Given the description of an element on the screen output the (x, y) to click on. 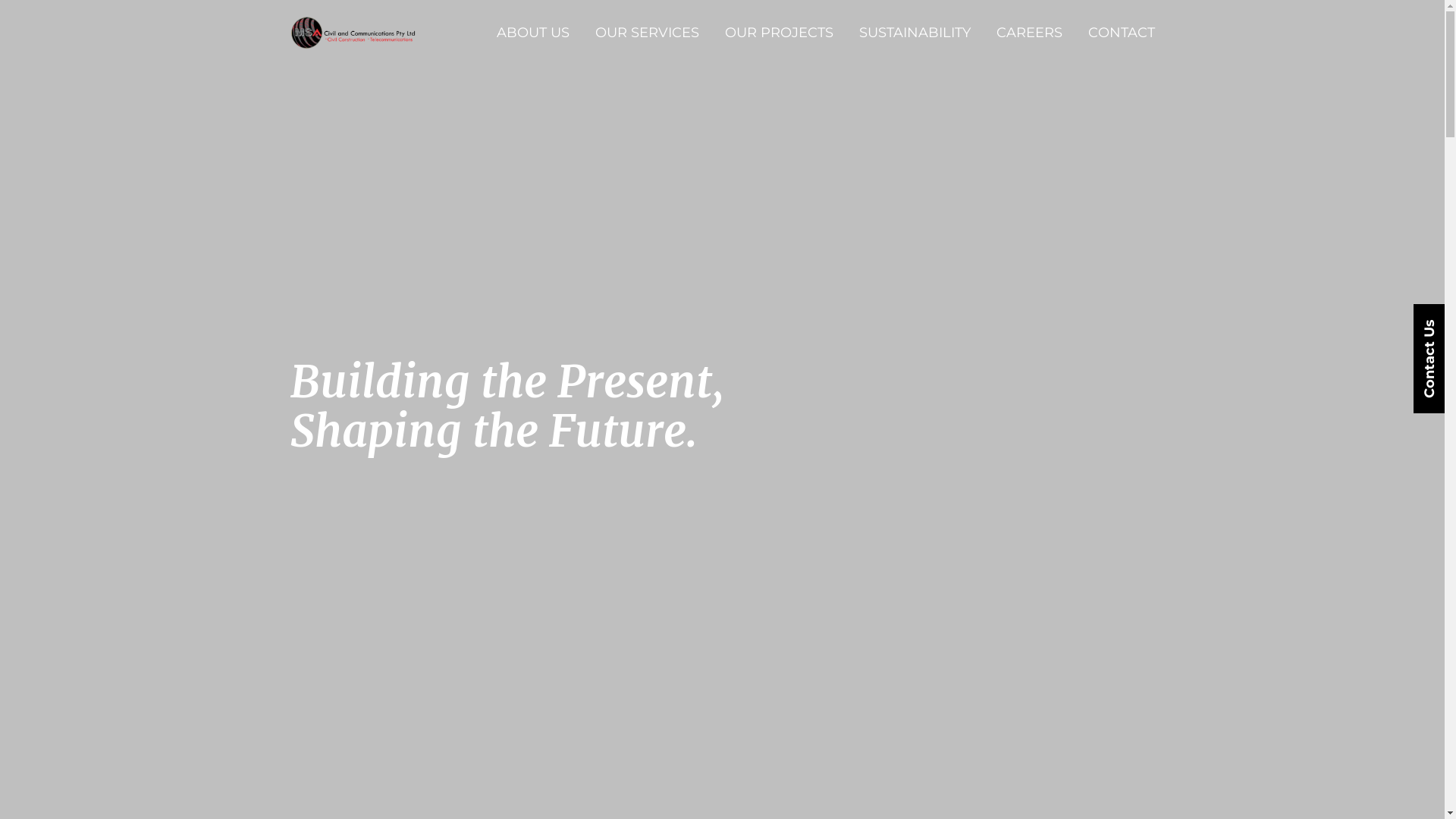
CAREERS Element type: text (1029, 32)
OUR PROJECTS Element type: text (778, 32)
SUSTAINABILITY Element type: text (913, 32)
OUR SERVICES Element type: text (646, 32)
CONTACT Element type: text (1120, 32)
ABOUT US Element type: text (531, 32)
